Given the description of an element on the screen output the (x, y) to click on. 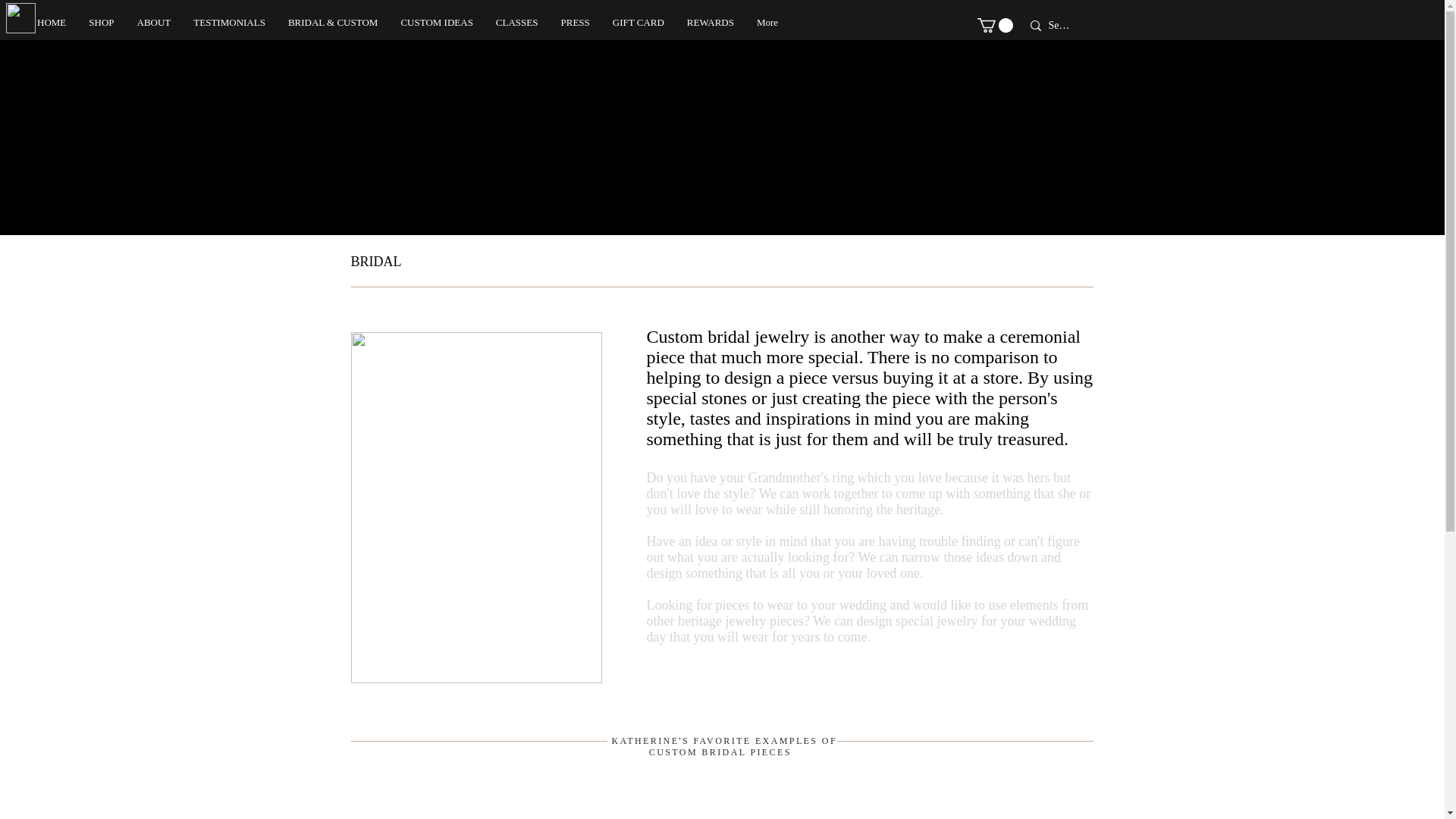
GIFT CARD (638, 26)
REWARDS (710, 26)
PRESS (573, 26)
CLASSES (517, 26)
TESTIMONIALS (229, 26)
HOME (51, 26)
ABOUT (154, 26)
CUSTOM IDEAS (435, 26)
